Given the description of an element on the screen output the (x, y) to click on. 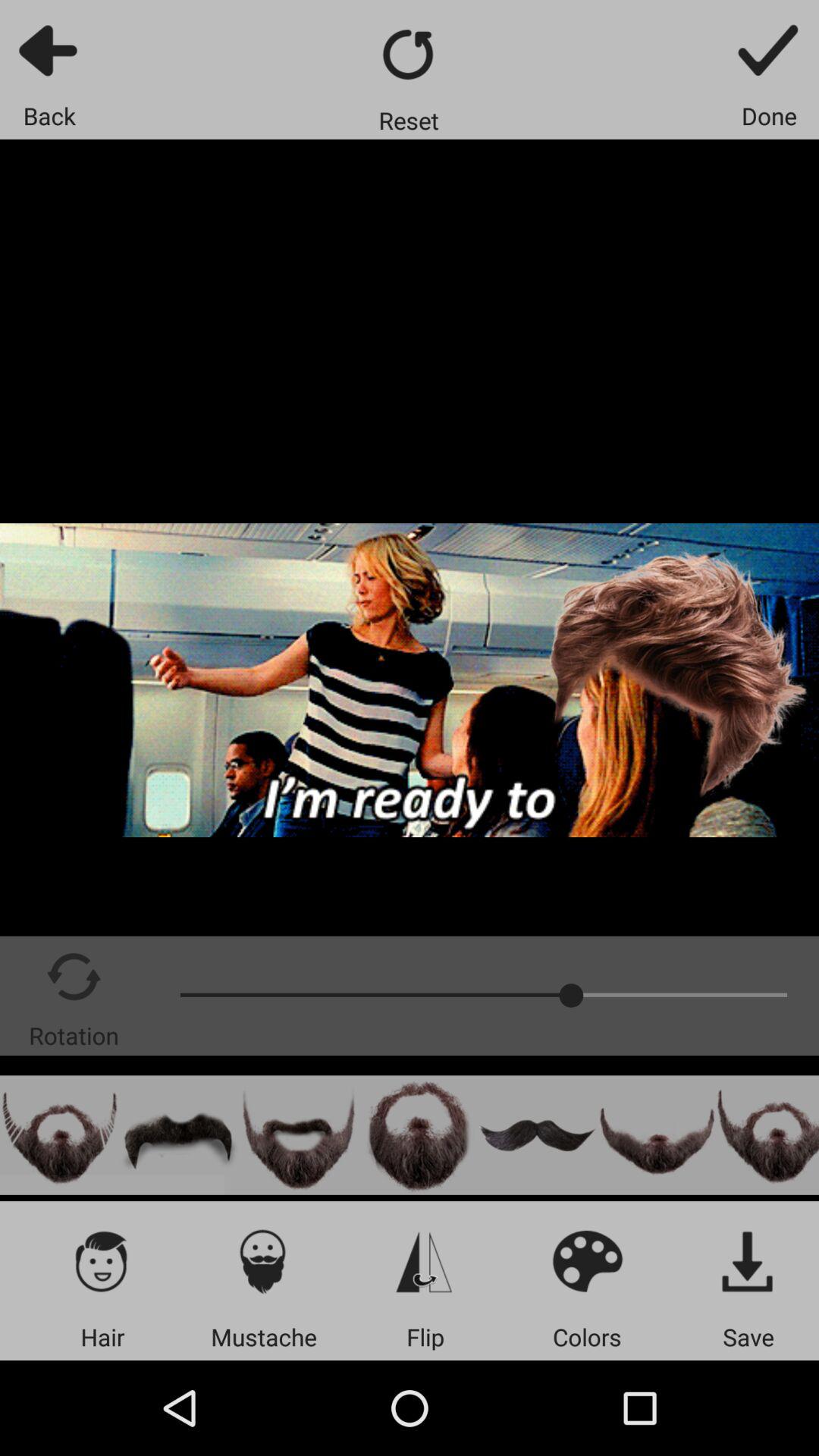
vertical flip (425, 1260)
